Given the description of an element on the screen output the (x, y) to click on. 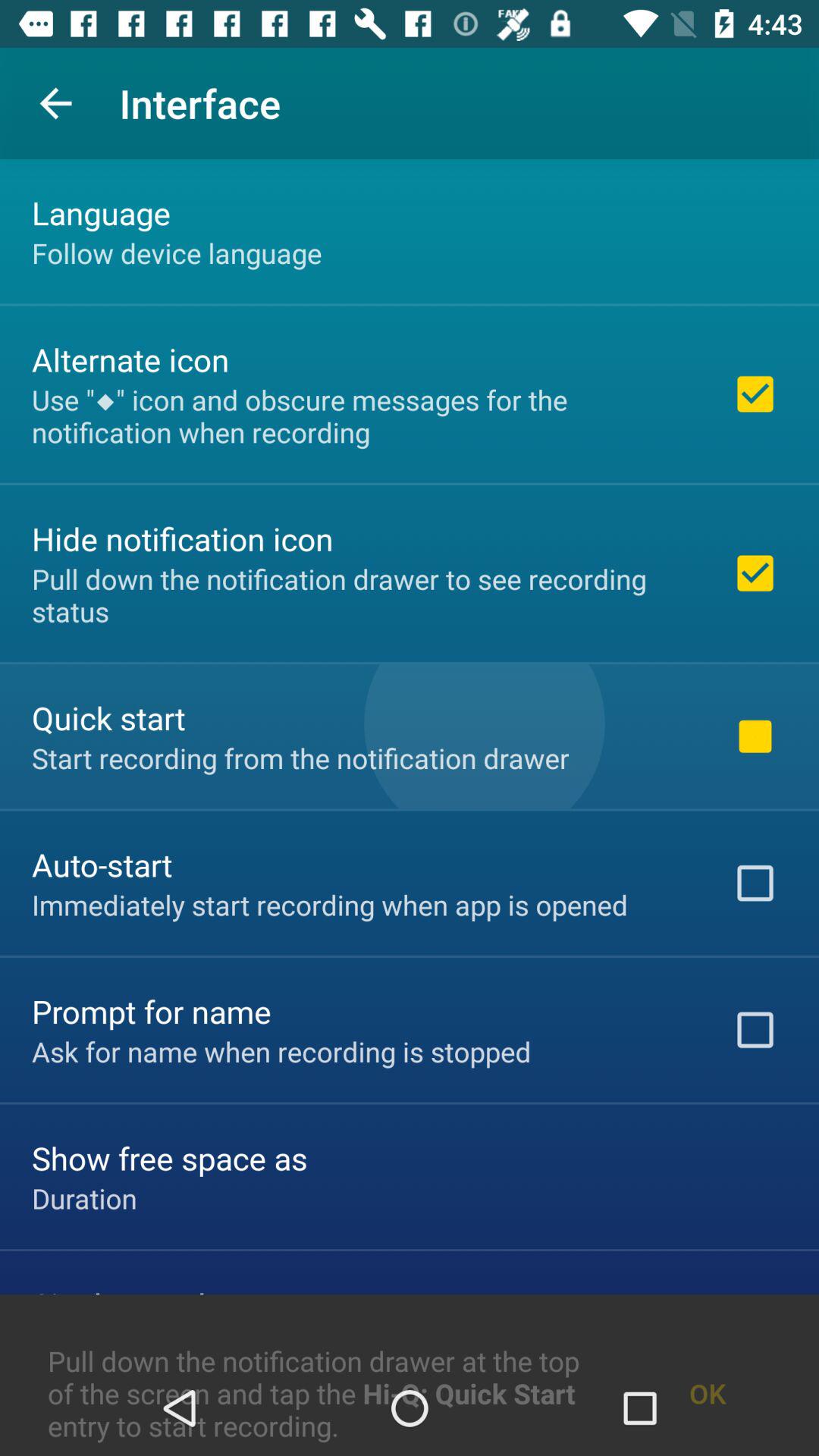
swipe to the alternate icon icon (130, 359)
